Given the description of an element on the screen output the (x, y) to click on. 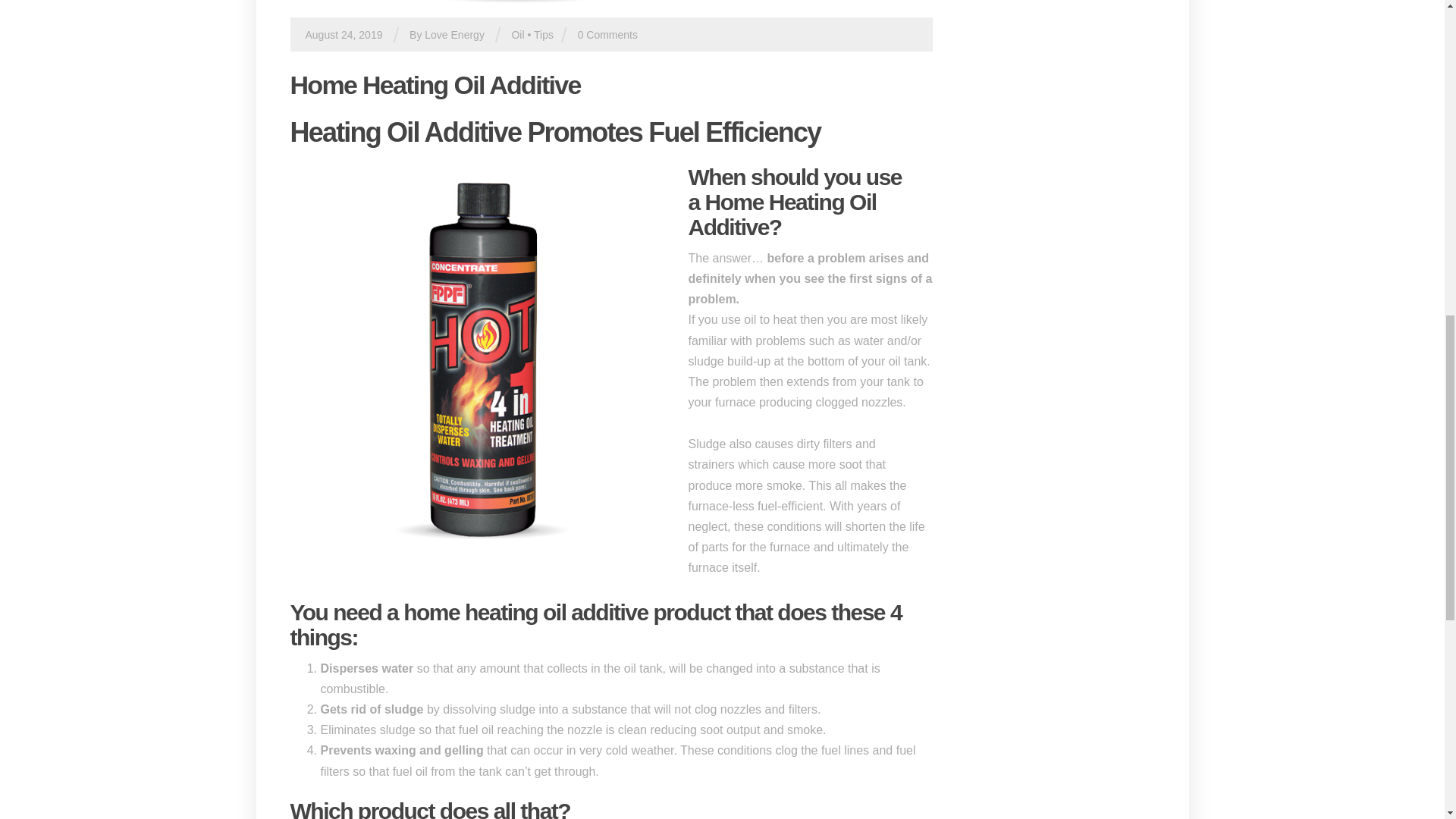
Oil (517, 34)
Tips (543, 34)
0 Comments (607, 34)
